Given the description of an element on the screen output the (x, y) to click on. 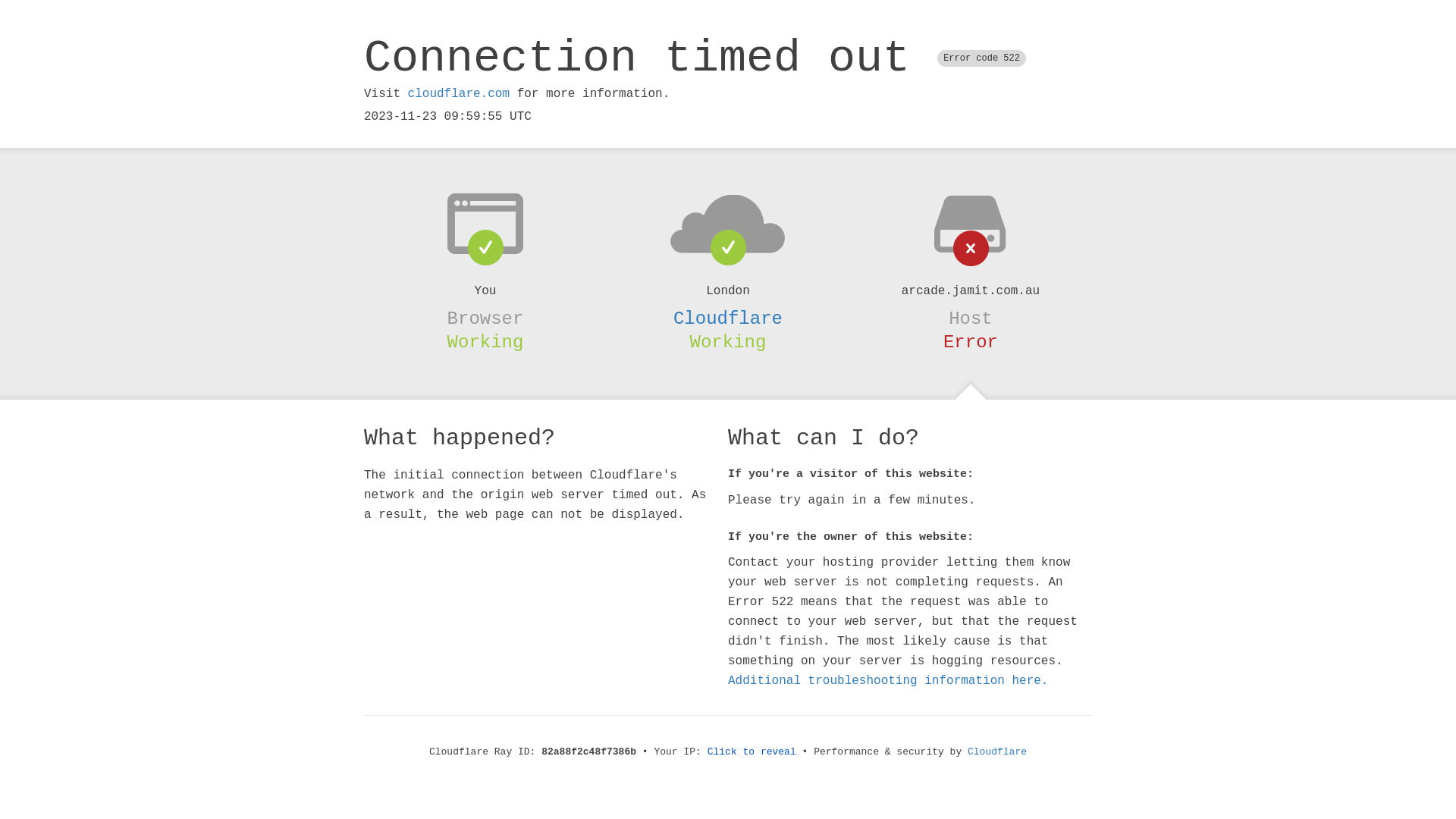
Additional troubleshooting information here. Element type: text (888, 680)
Cloudflare Element type: text (996, 751)
Click to reveal Element type: text (751, 751)
Cloudflare Element type: text (727, 318)
cloudflare.com Element type: text (458, 93)
